Given the description of an element on the screen output the (x, y) to click on. 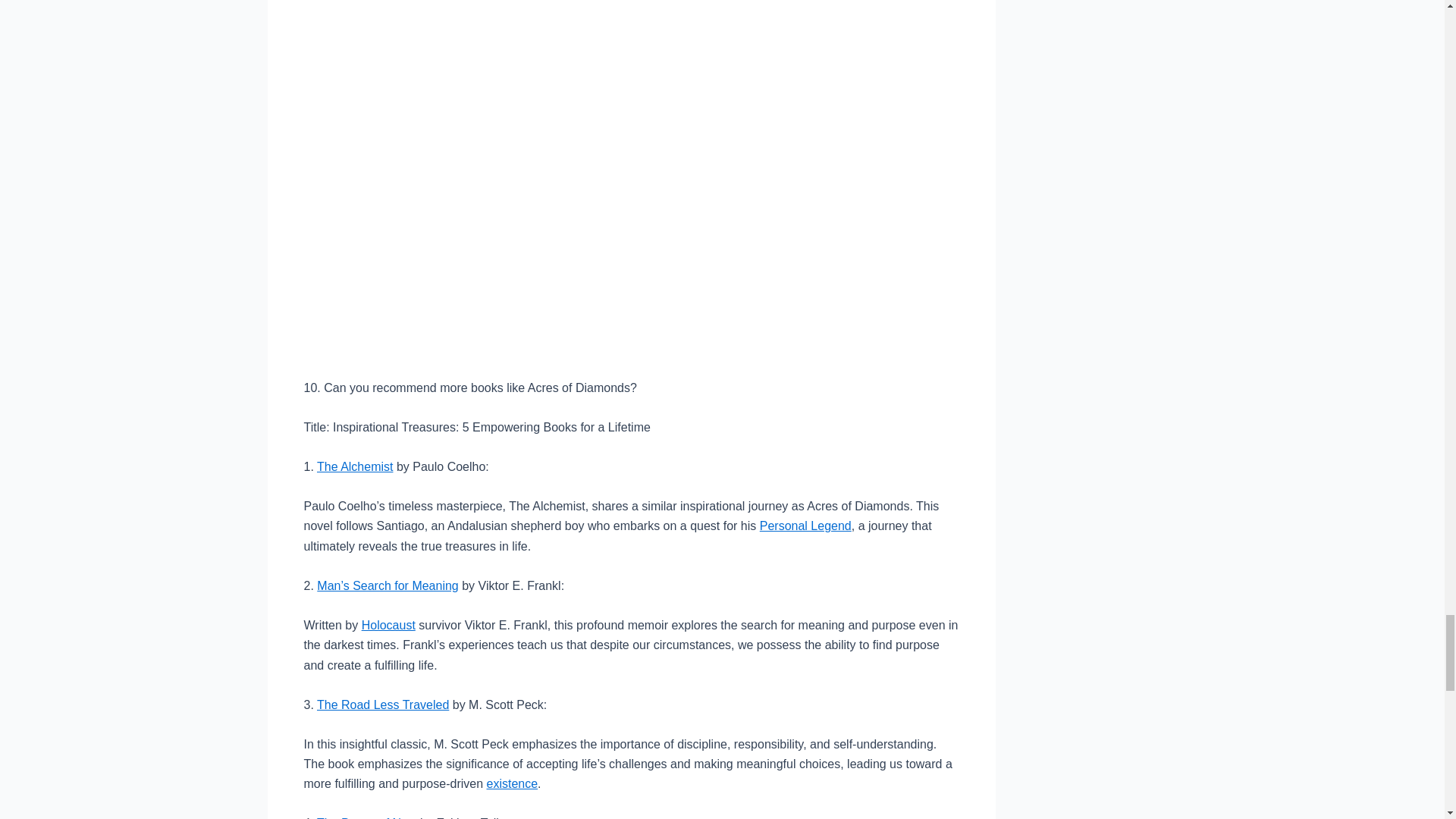
The Alchemist (355, 466)
